Given the description of an element on the screen output the (x, y) to click on. 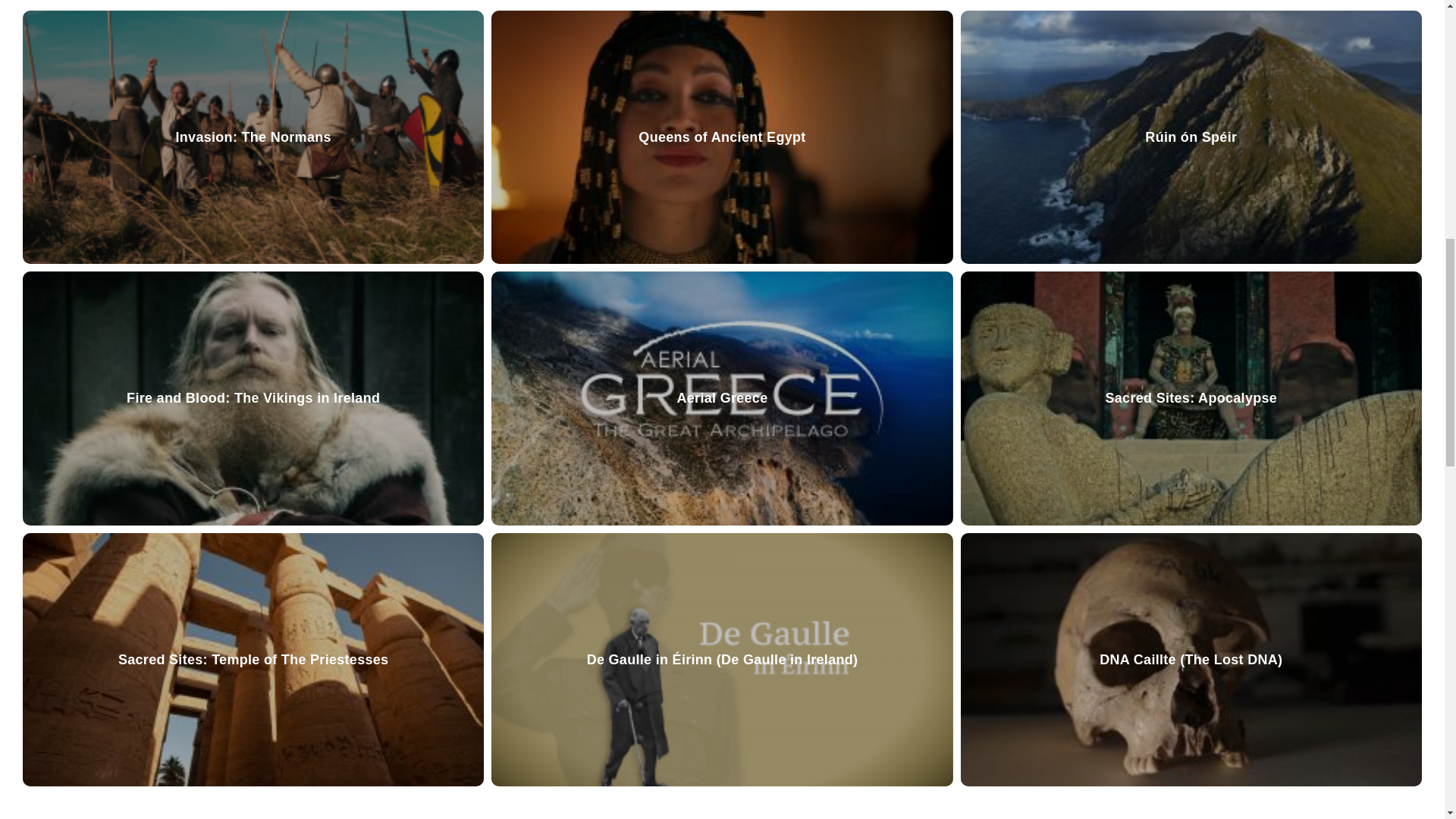
Queens of Ancient Egypt (722, 137)
Fire and Blood: The Vikings in Ireland (253, 398)
Sacred Sites: Temple of The Priestesses (253, 660)
Sacred Sites: Apocalypse (1191, 398)
Aerial Greece (722, 398)
Invasion: The Normans (253, 137)
